Given the description of an element on the screen output the (x, y) to click on. 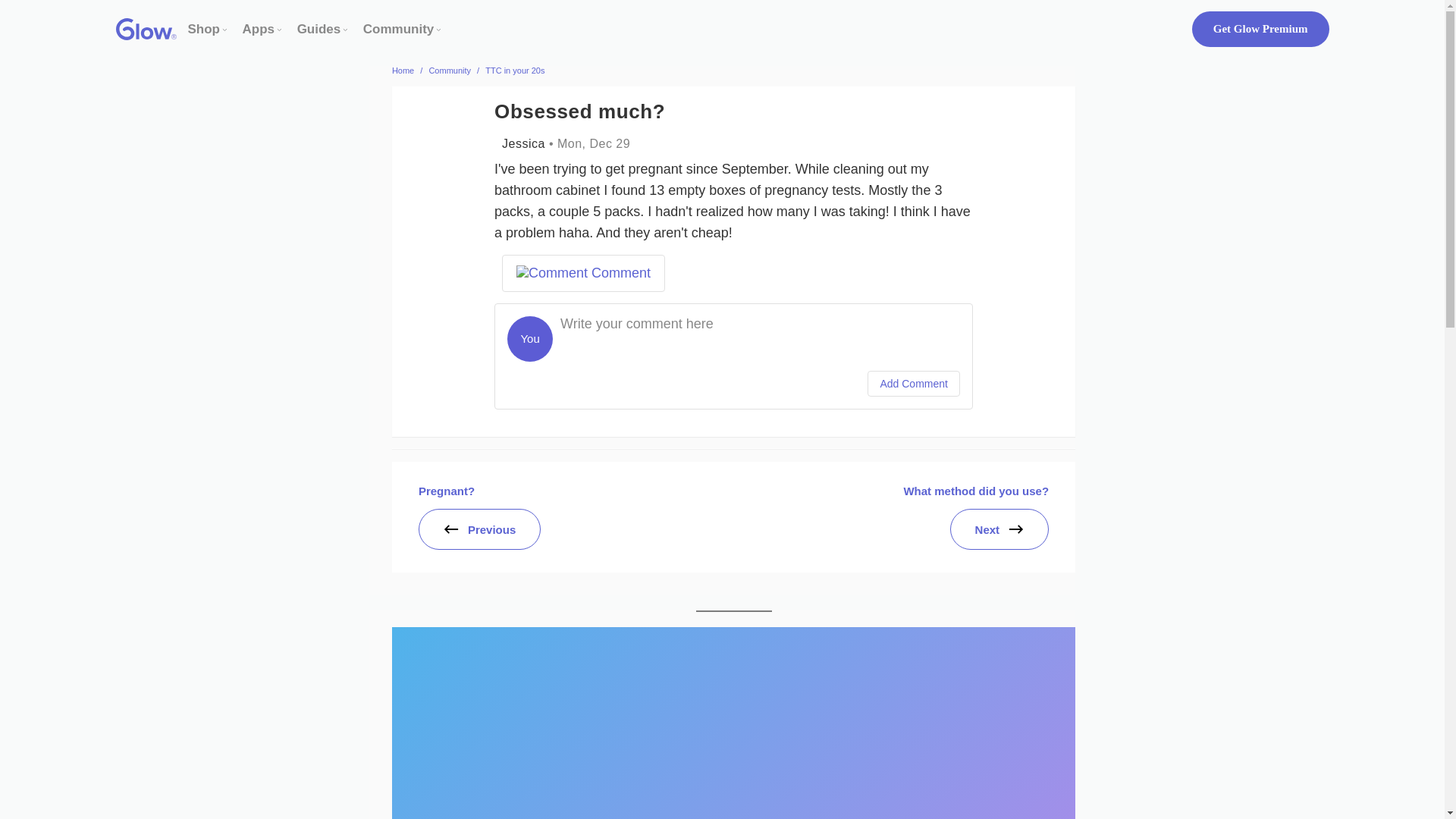
Apps (259, 28)
Shop (204, 28)
Glow Community (397, 28)
Glow Shop (204, 28)
Community (397, 28)
Guides (318, 28)
